Given the description of an element on the screen output the (x, y) to click on. 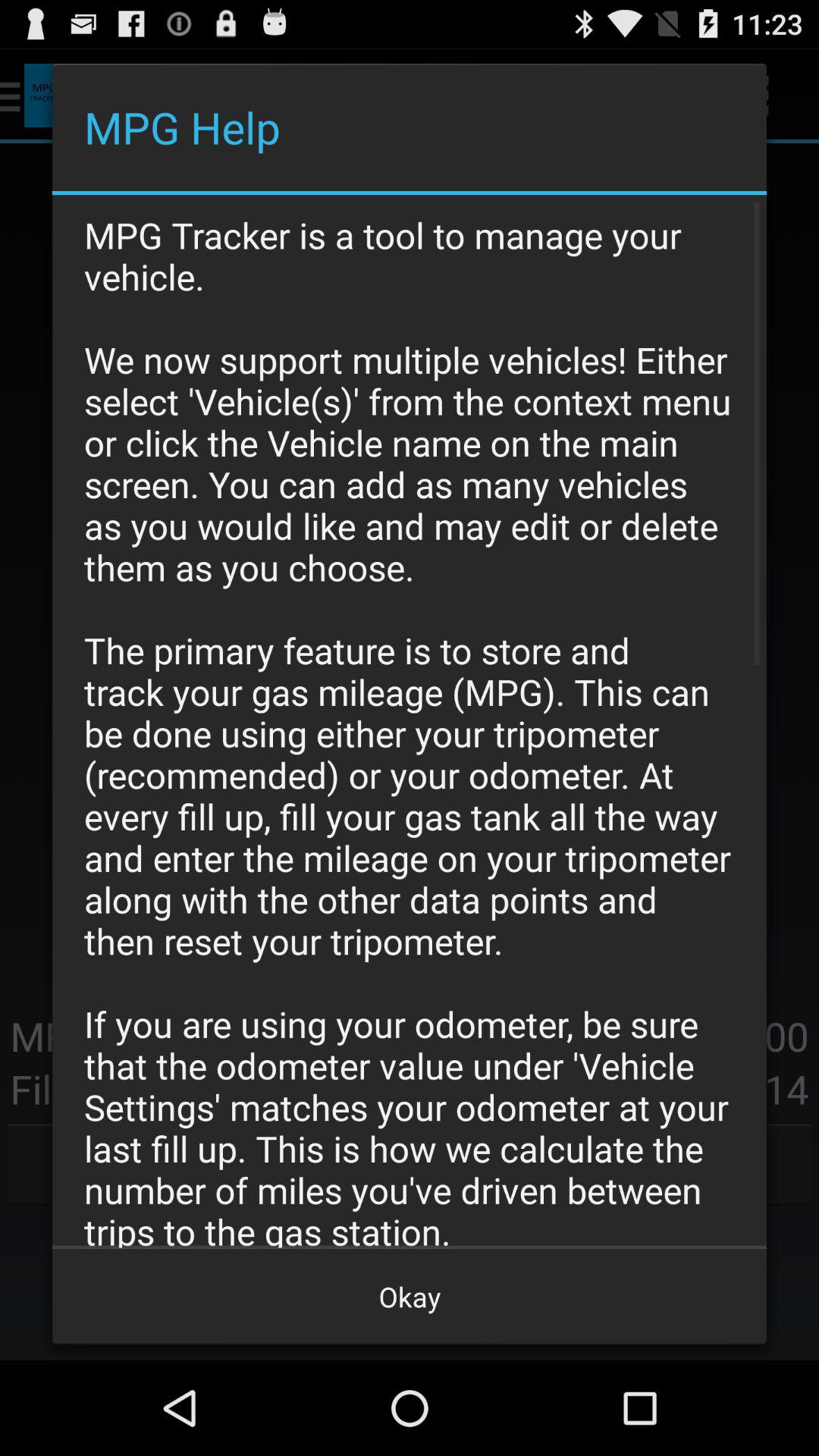
launch the okay at the bottom (409, 1296)
